Given the description of an element on the screen output the (x, y) to click on. 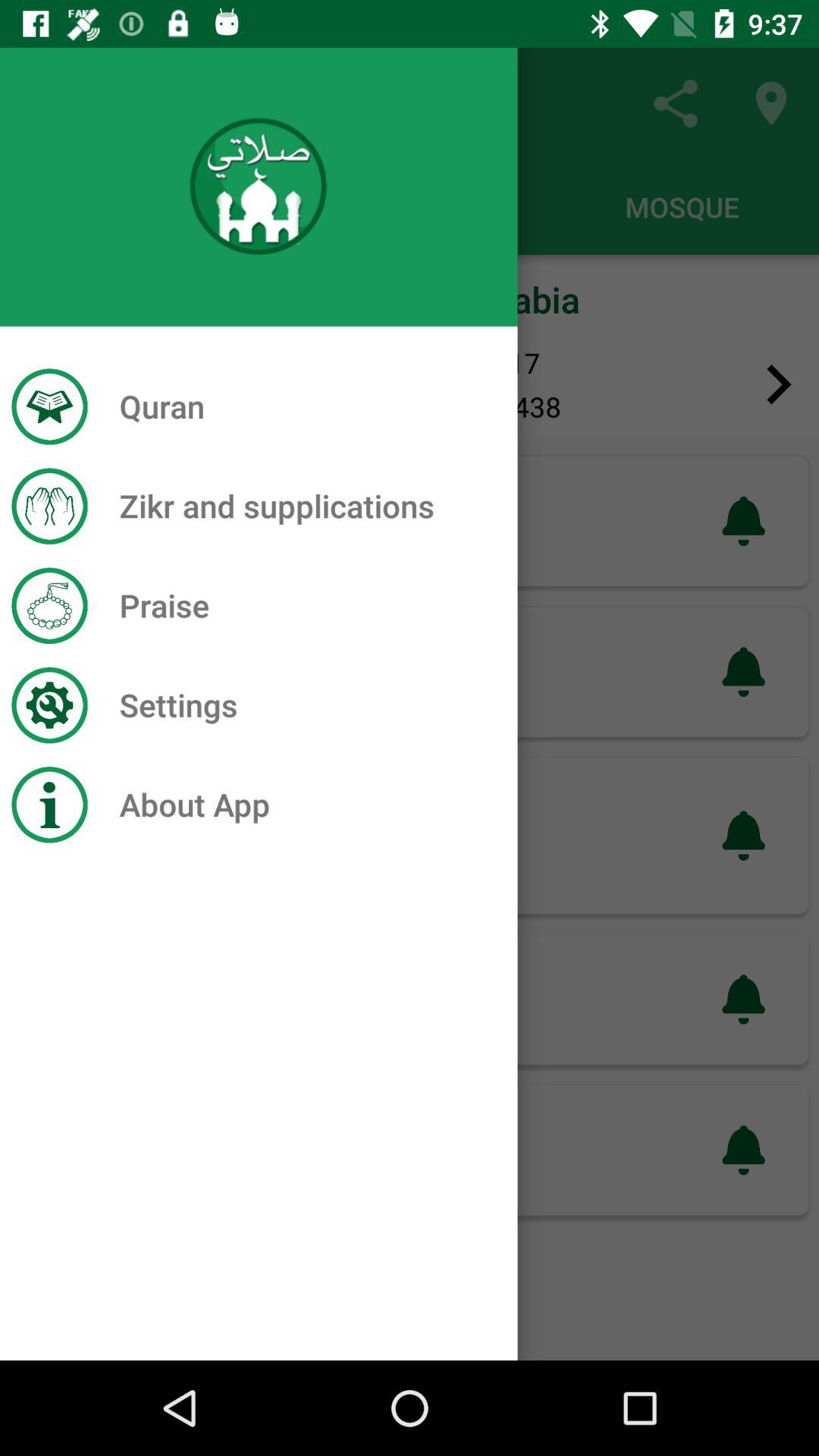
select the third notification icon (743, 835)
